Given the description of an element on the screen output the (x, y) to click on. 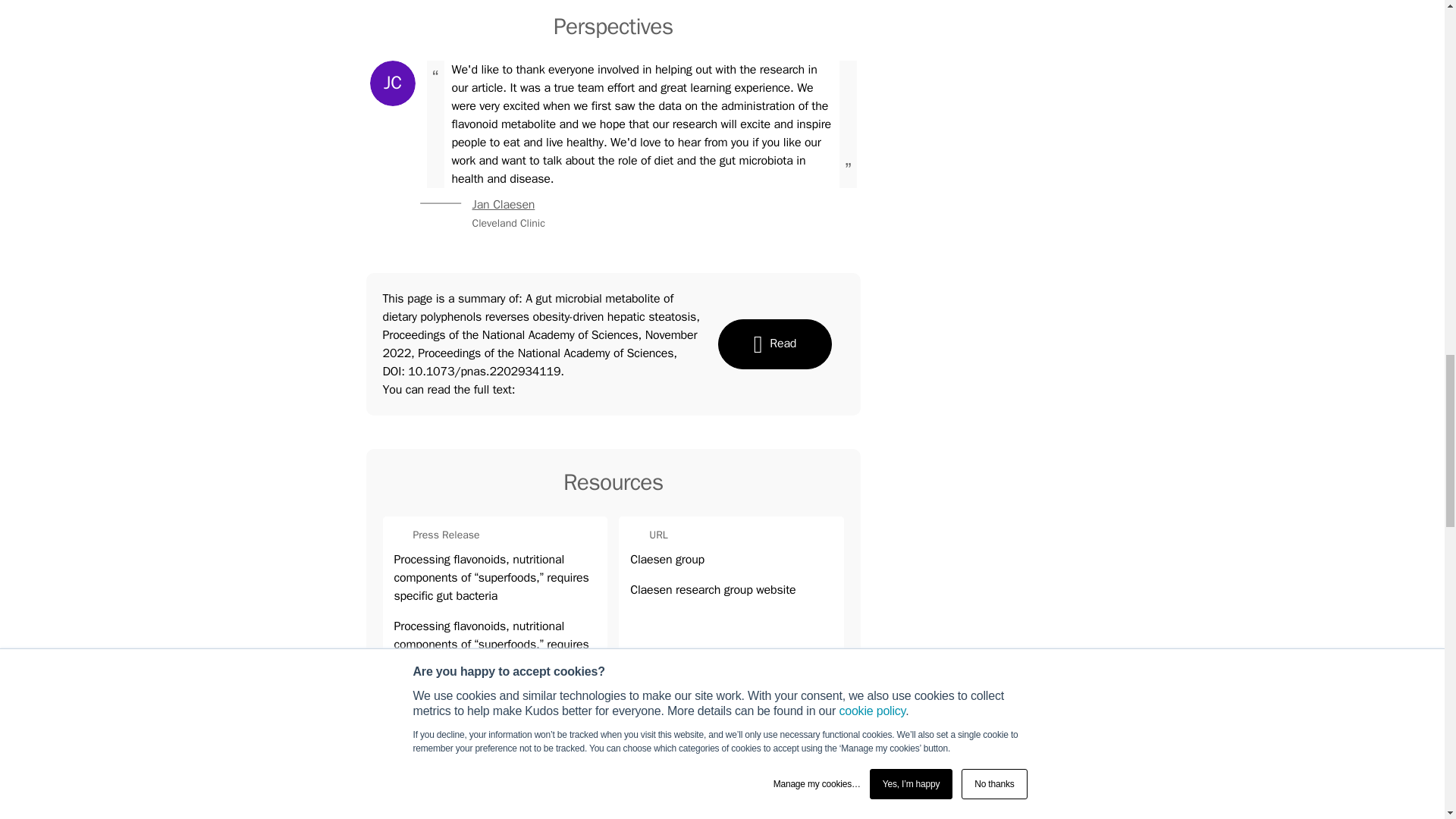
Jan Claesen (391, 83)
Read (502, 204)
